Given the description of an element on the screen output the (x, y) to click on. 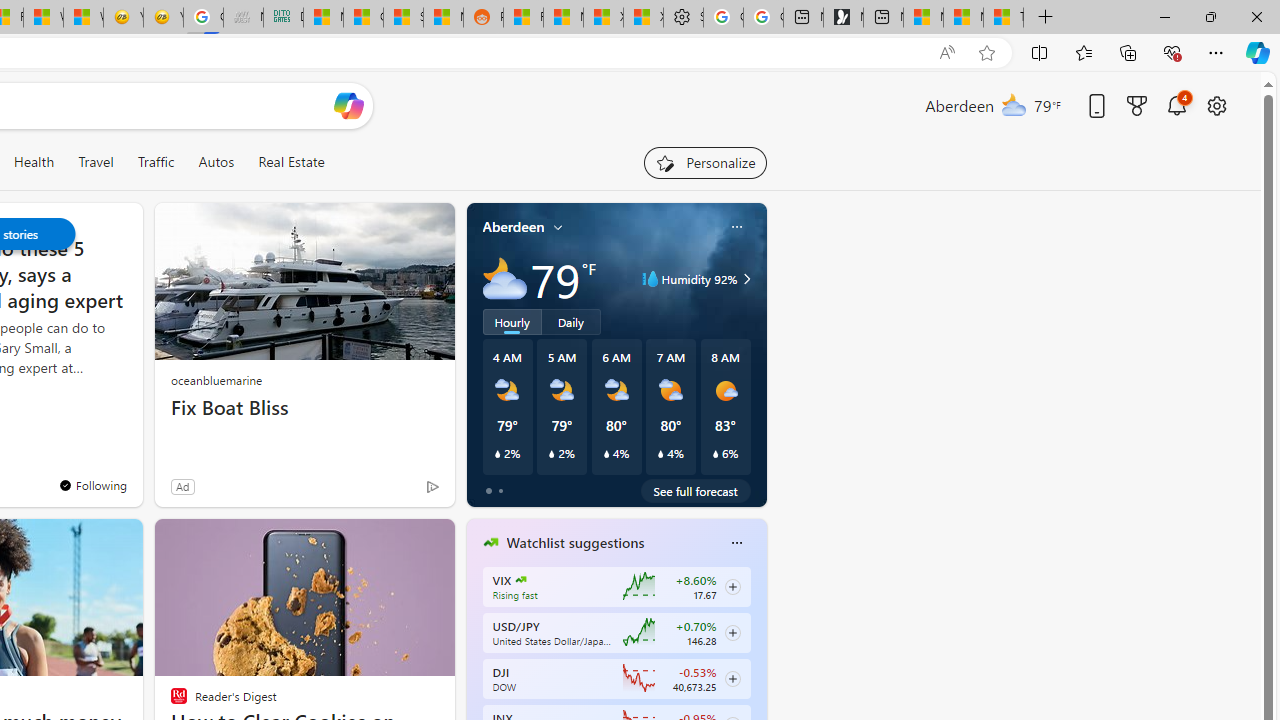
These 3 Stocks Pay You More Than 5% to Own Them (1003, 17)
previous (476, 670)
oceanbluemarine (216, 380)
